Given the description of an element on the screen output the (x, y) to click on. 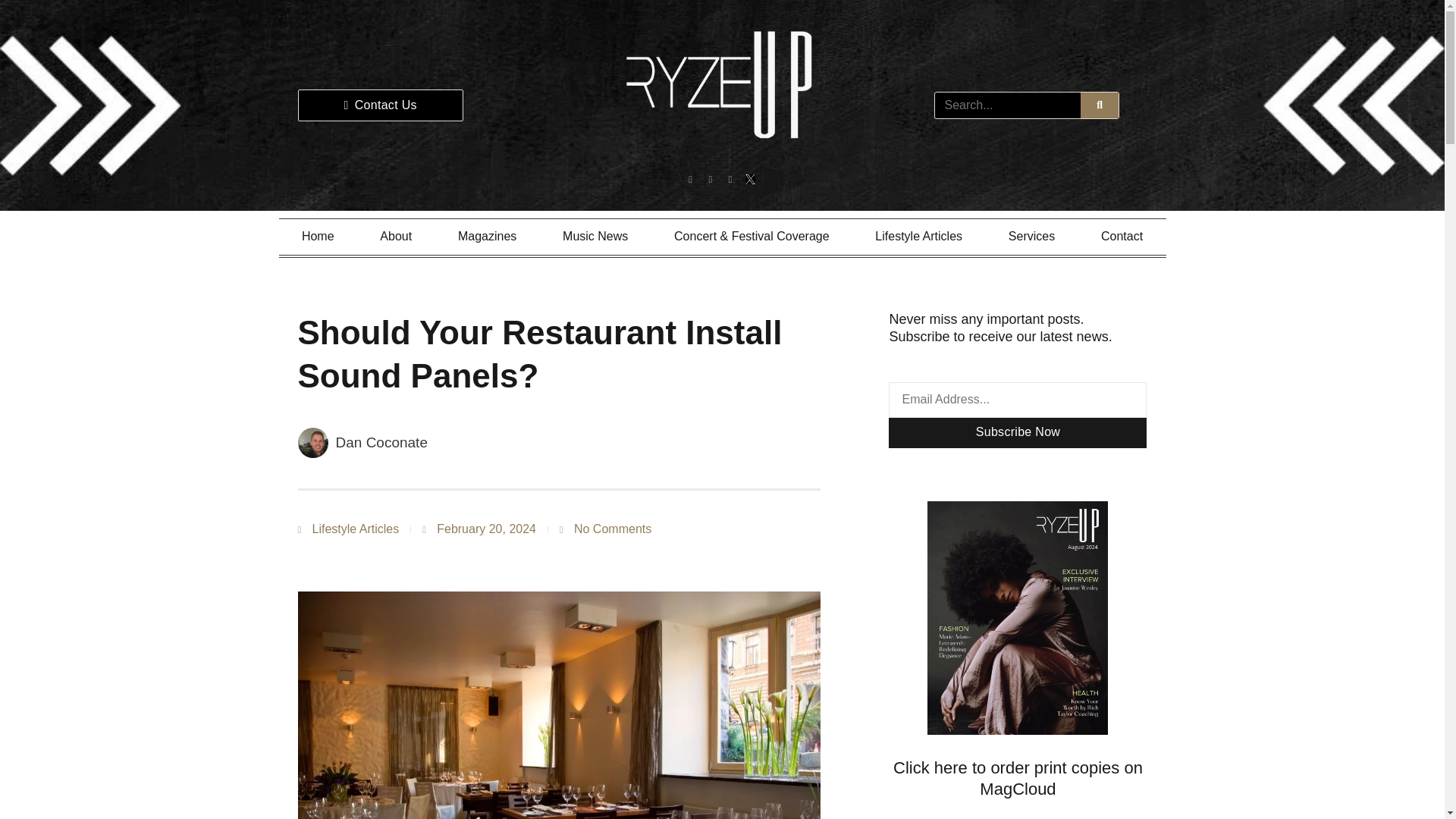
Contact Us (380, 105)
Music News (595, 236)
Dan Coconate (361, 442)
Lifestyle Articles (918, 236)
February 20, 2024 (478, 528)
Home (317, 236)
Magazines (487, 236)
About (395, 236)
Services (1031, 236)
Contact (1122, 236)
